Given the description of an element on the screen output the (x, y) to click on. 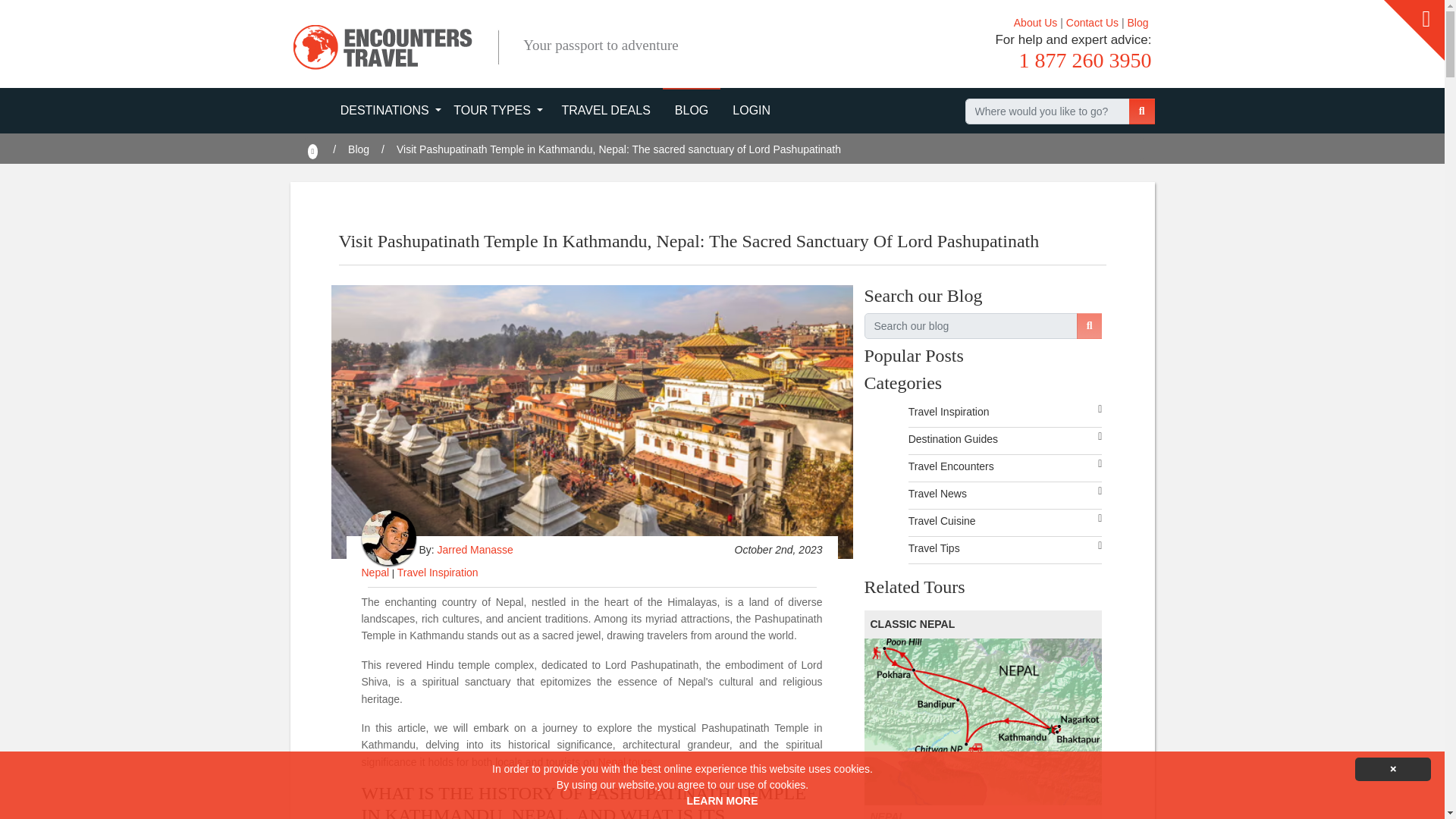
DESTINATIONS (391, 112)
Contact Us (1091, 22)
About Us (1035, 22)
Blog (1137, 22)
